Given the description of an element on the screen output the (x, y) to click on. 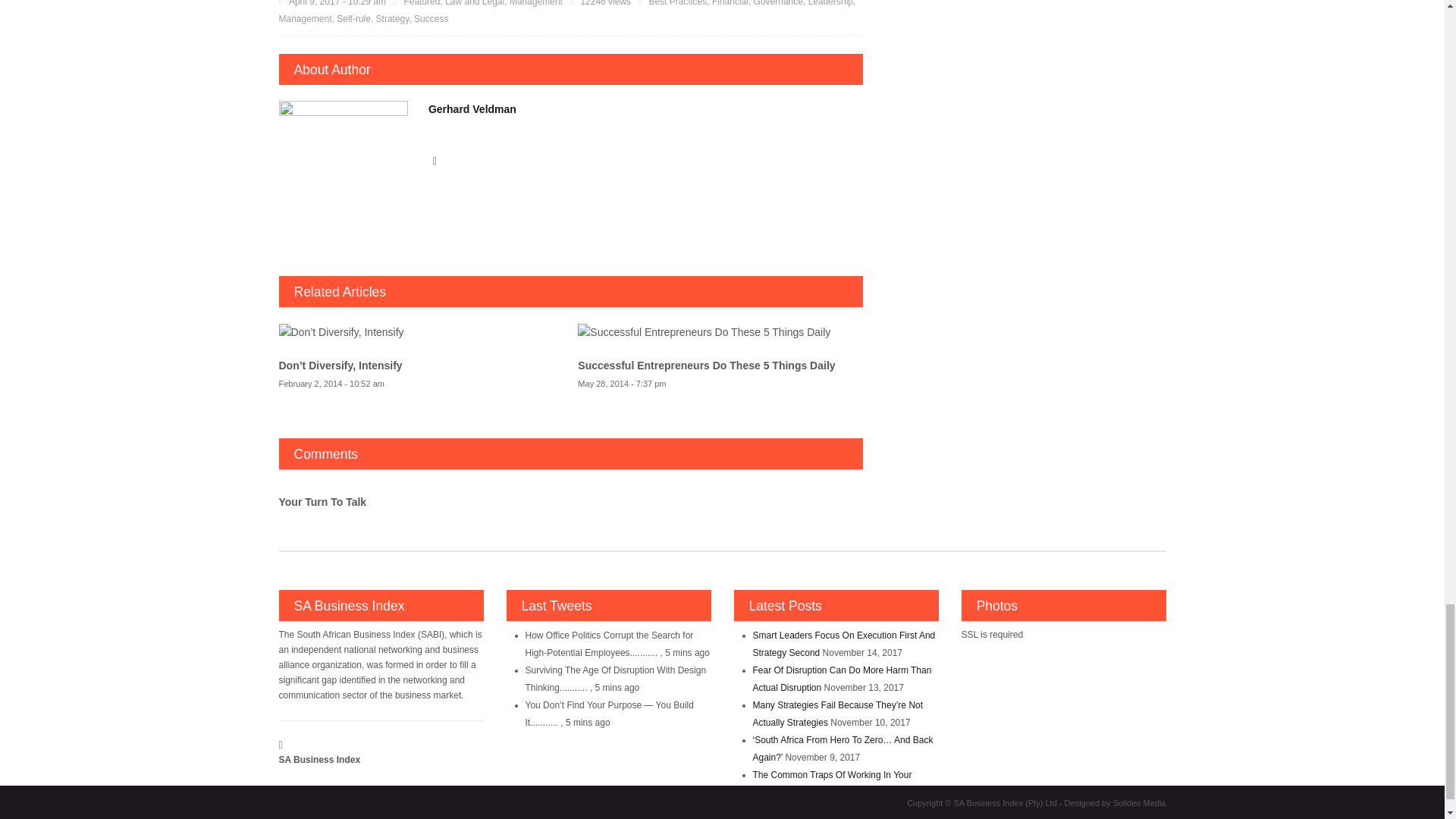
View all posts in Featured (421, 3)
Law and Legal (474, 3)
View all posts in Management (535, 3)
Fear Of Disruption Can Do More Harm Than Actual Disruption (841, 678)
Featured (421, 3)
Posts by Gerhard Veldman (472, 109)
View all posts in Law and Legal (474, 3)
Smart Leaders Focus On Execution First And Strategy Second (843, 643)
Management (535, 3)
